Given the description of an element on the screen output the (x, y) to click on. 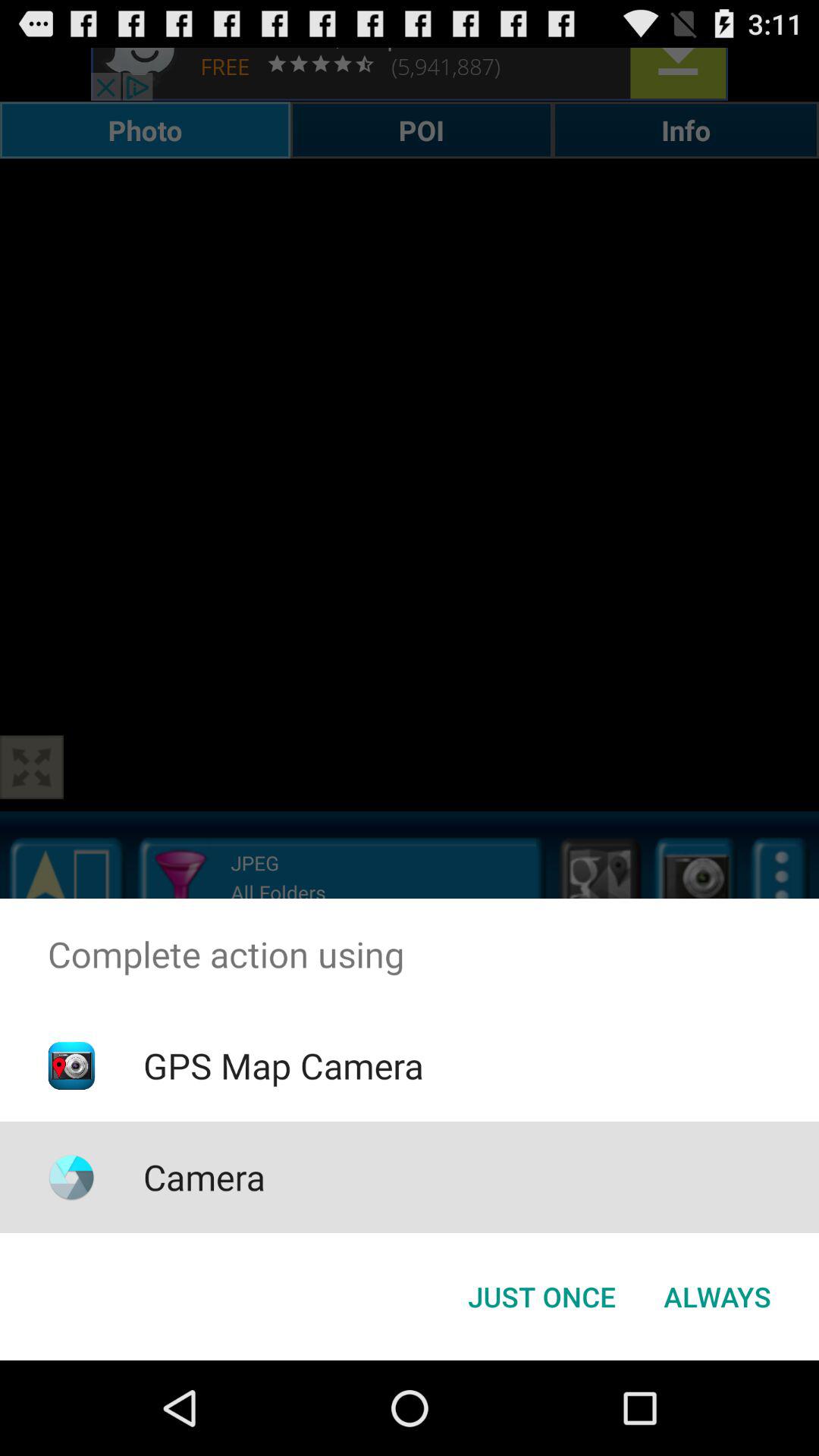
tap the always button (717, 1296)
